Given the description of an element on the screen output the (x, y) to click on. 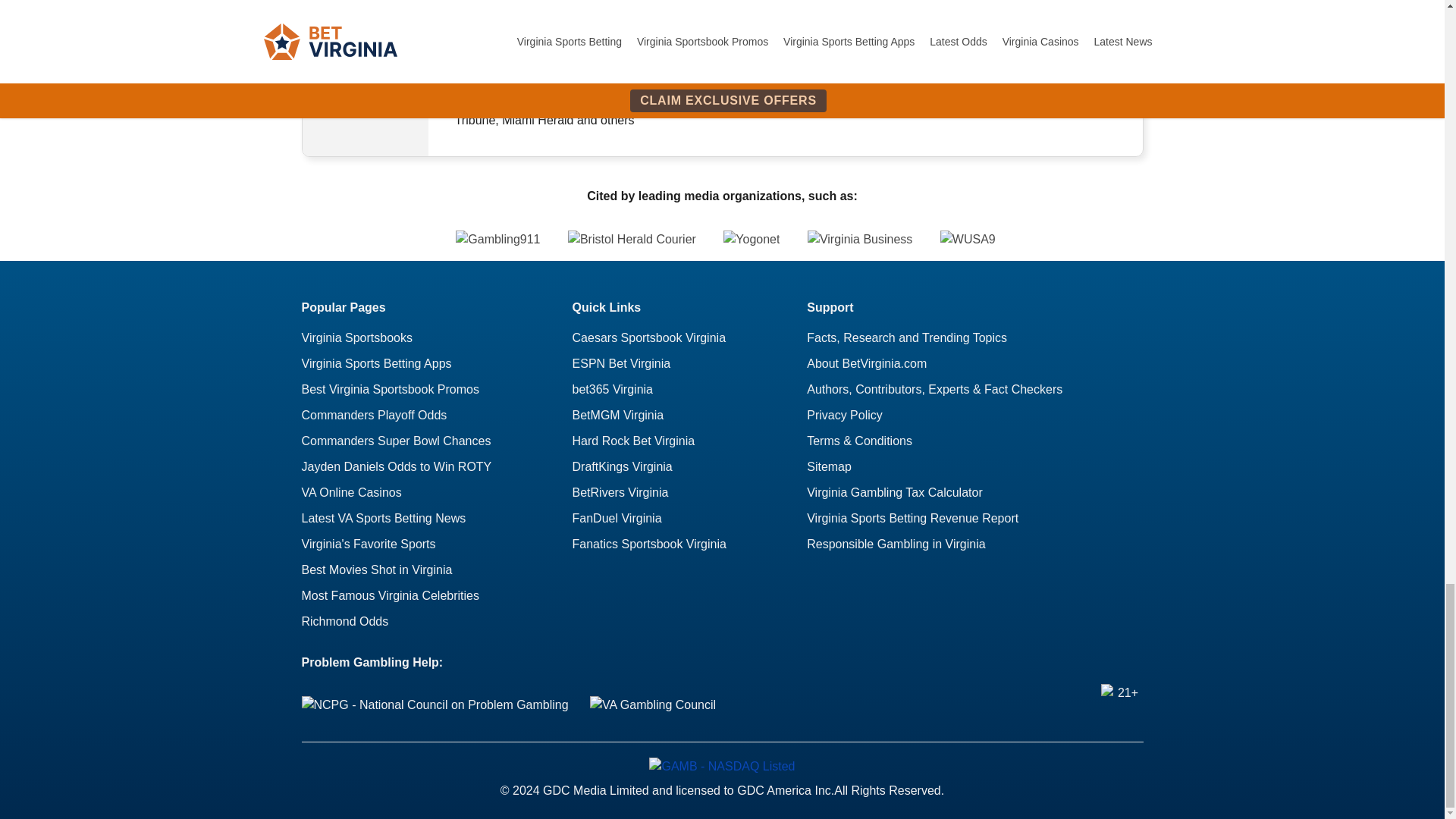
Bill Ordine (365, 50)
